Given the description of an element on the screen output the (x, y) to click on. 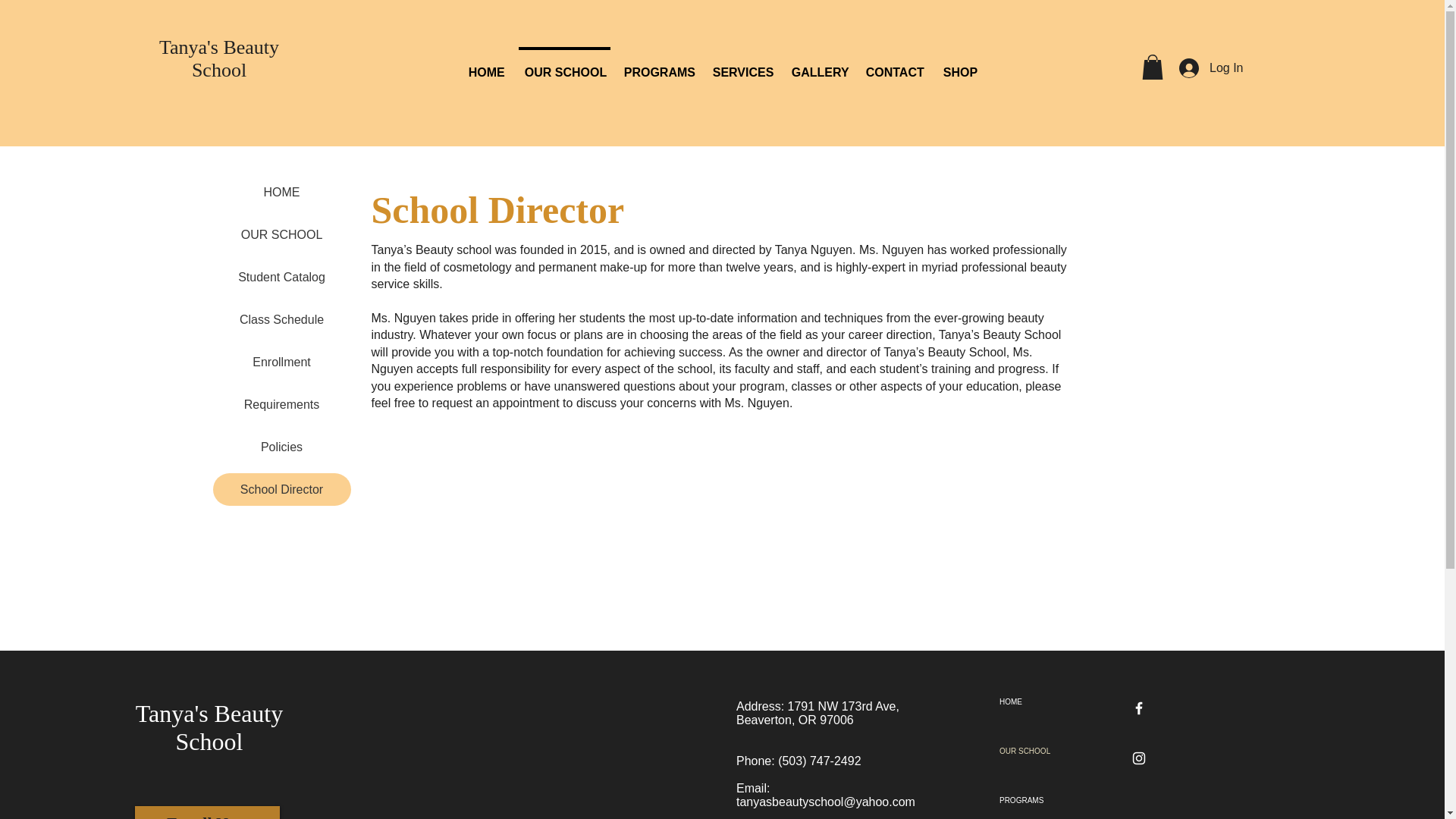
GALLERY (818, 65)
HOME (486, 65)
Tanya's Beauty School (209, 727)
Tanya's Beauty School (218, 58)
HOME (281, 192)
OUR SCHOOL (281, 234)
Student Catalog (281, 277)
Policies (281, 446)
Enrollment (281, 361)
Requirements (281, 404)
CONTACT (894, 65)
OUR SCHOOL (564, 65)
School Director (281, 489)
SHOP (960, 65)
PROGRAMS (658, 65)
